Given the description of an element on the screen output the (x, y) to click on. 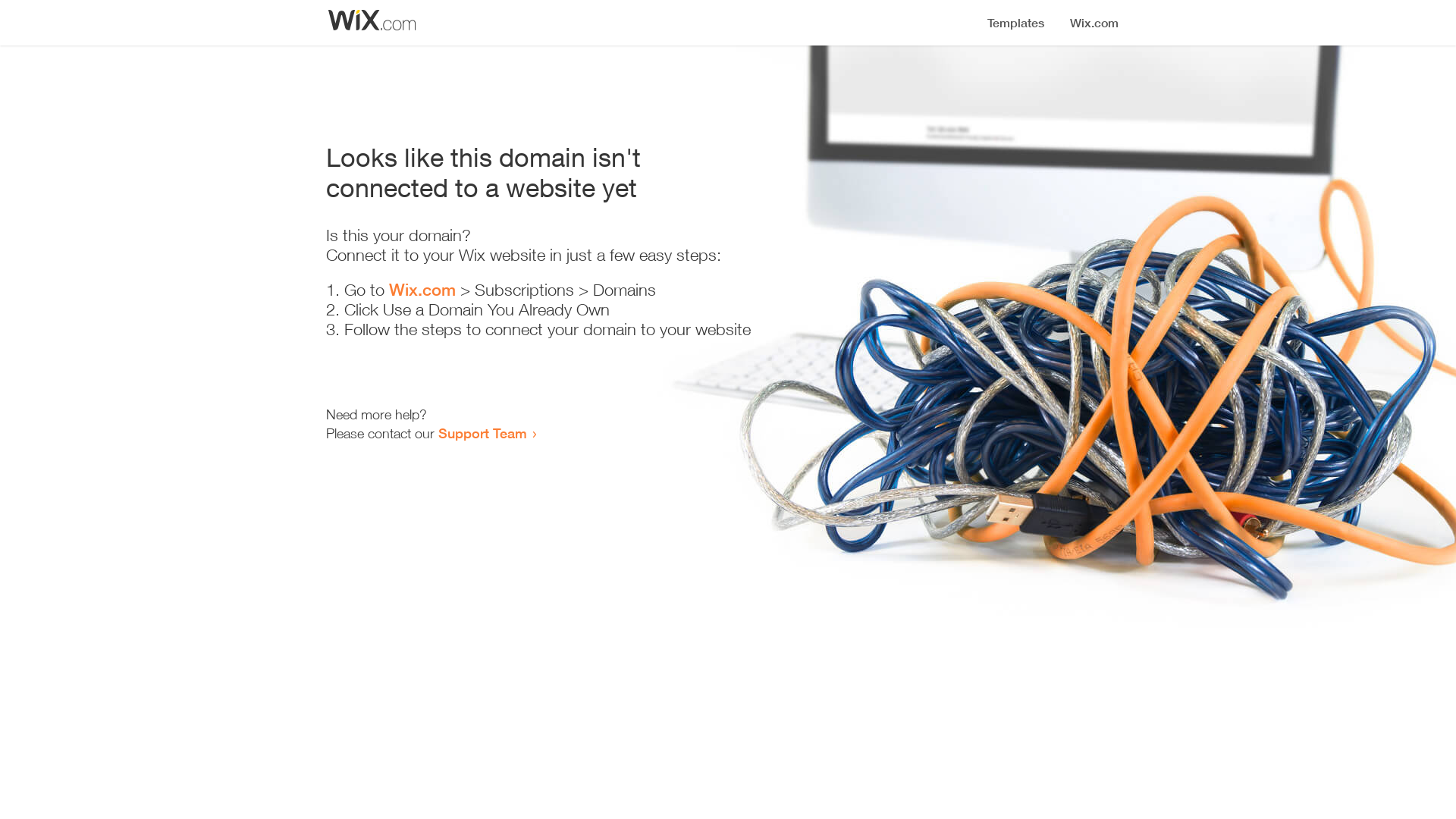
Support Team Element type: text (482, 432)
Wix.com Element type: text (422, 289)
